Given the description of an element on the screen output the (x, y) to click on. 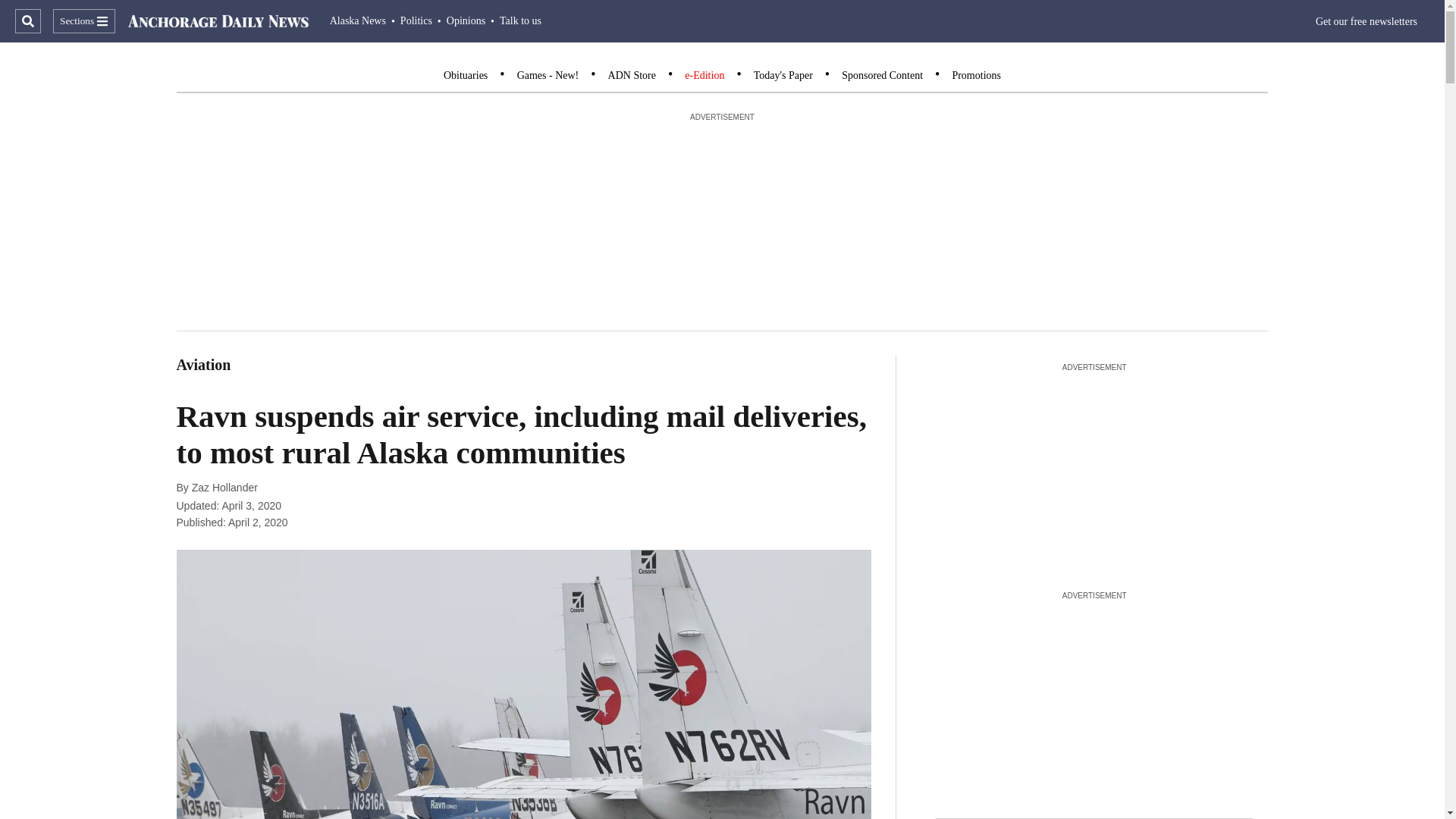
Get our free newsletters (1366, 21)
Opinions (465, 20)
Politics (416, 20)
ADN Logo (218, 20)
Sections (83, 21)
Alaska News (357, 20)
